Given the description of an element on the screen output the (x, y) to click on. 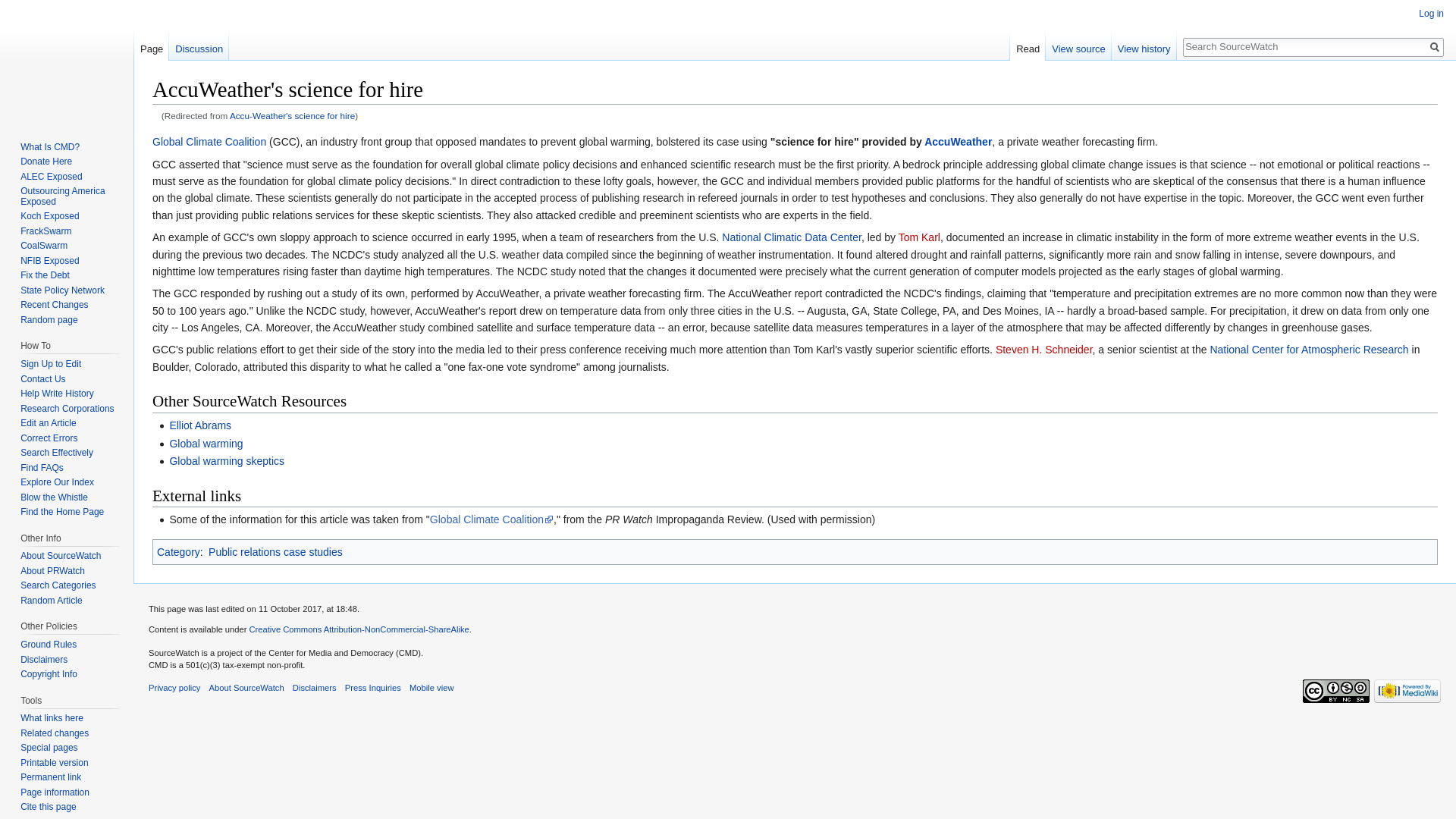
Steven H. Schneider (1044, 349)
Page (150, 45)
National Center for Atmospheric Research (1308, 349)
Global warming (205, 443)
National Center for Atmospheric Research (1308, 349)
What Is CMD? (50, 146)
Koch Exposed (49, 215)
Global warming (205, 443)
Elliot Abrams (199, 425)
NFIB Exposed (49, 260)
